Given the description of an element on the screen output the (x, y) to click on. 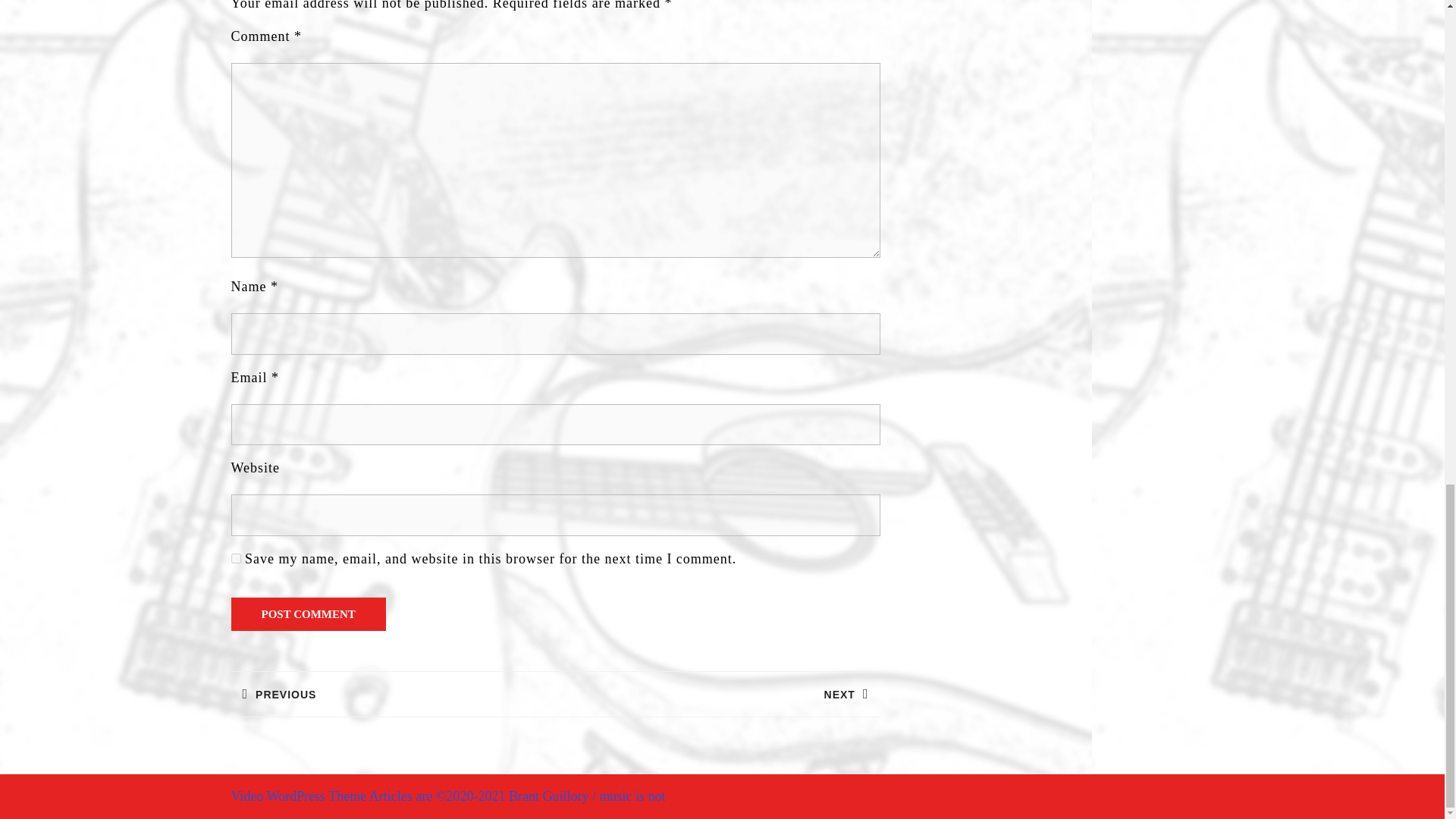
yes (235, 558)
Post Comment (716, 693)
Video WordPress Theme (392, 693)
Post Comment (307, 613)
